Given the description of an element on the screen output the (x, y) to click on. 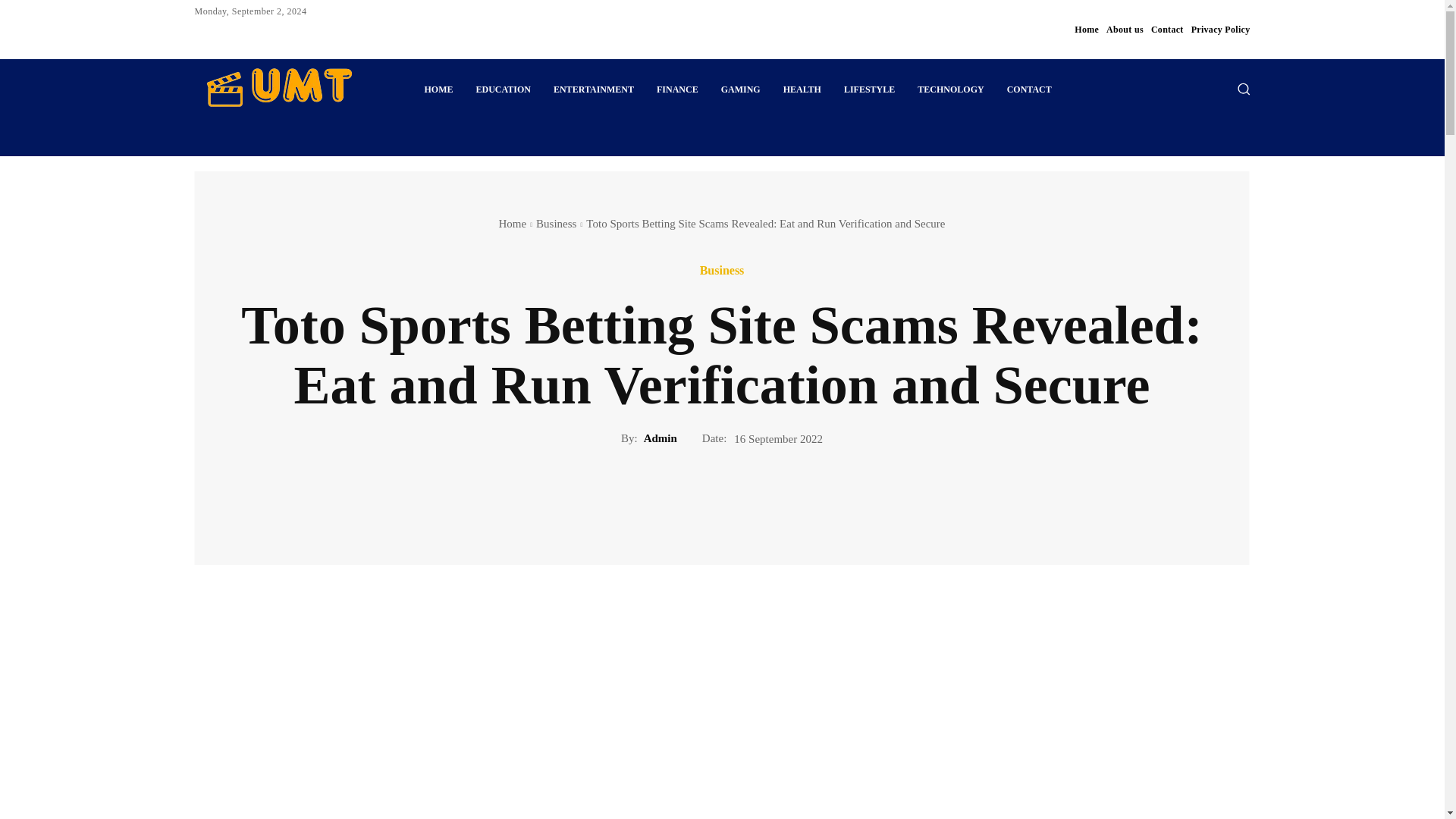
Admin (660, 438)
Home (1086, 29)
Business (722, 270)
ENTERTAINMENT (593, 89)
Contact (1167, 29)
HEALTH (801, 89)
HOME (438, 89)
Home (511, 223)
GAMING (740, 89)
LIFESTYLE (868, 89)
